Given the description of an element on the screen output the (x, y) to click on. 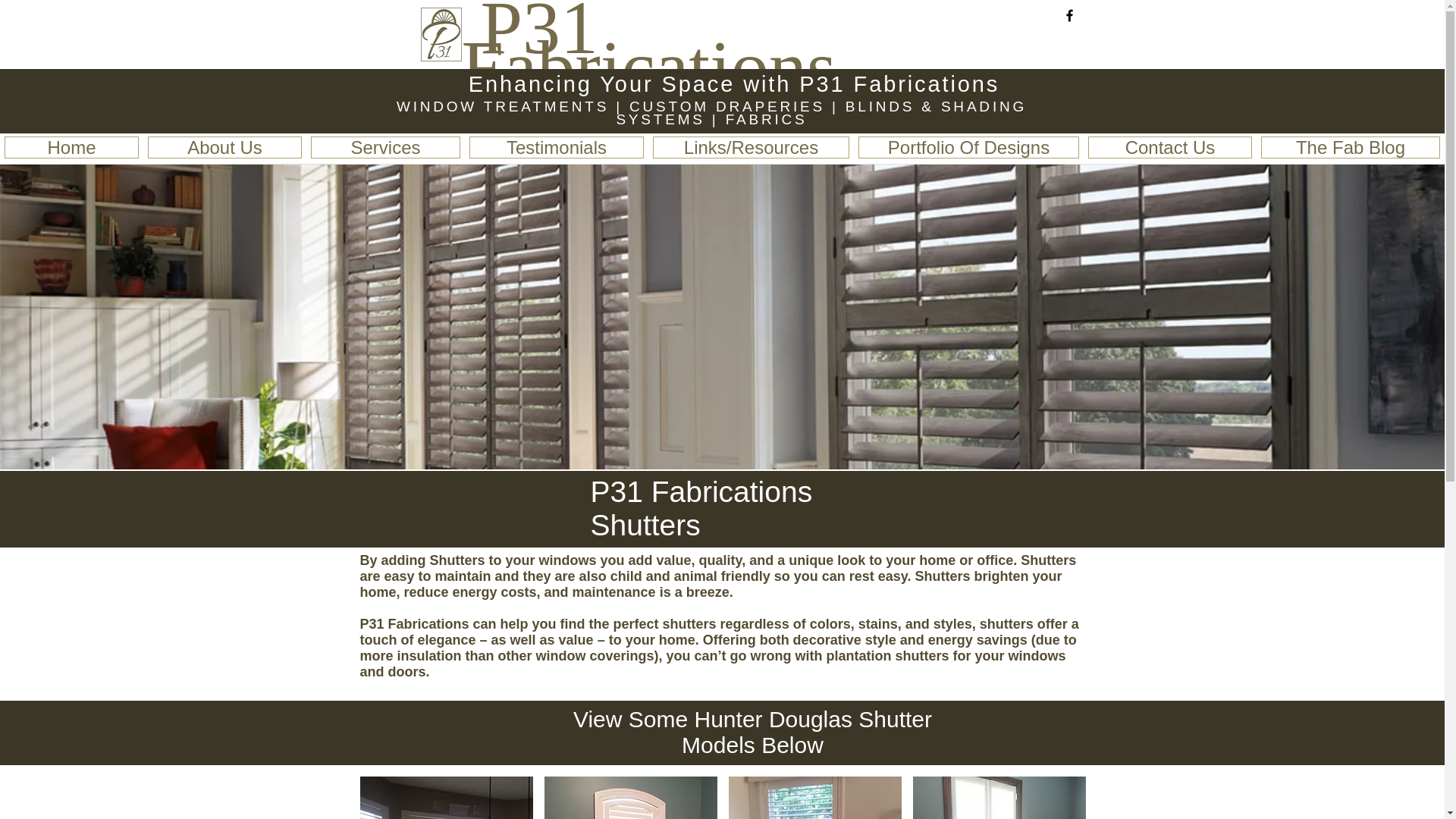
Testimonials (555, 147)
Home (71, 147)
Services (385, 147)
About Us (224, 147)
Contact Us (1169, 147)
The Fab Blog (1349, 147)
Portfolio Of Designs (968, 147)
